Given the description of an element on the screen output the (x, y) to click on. 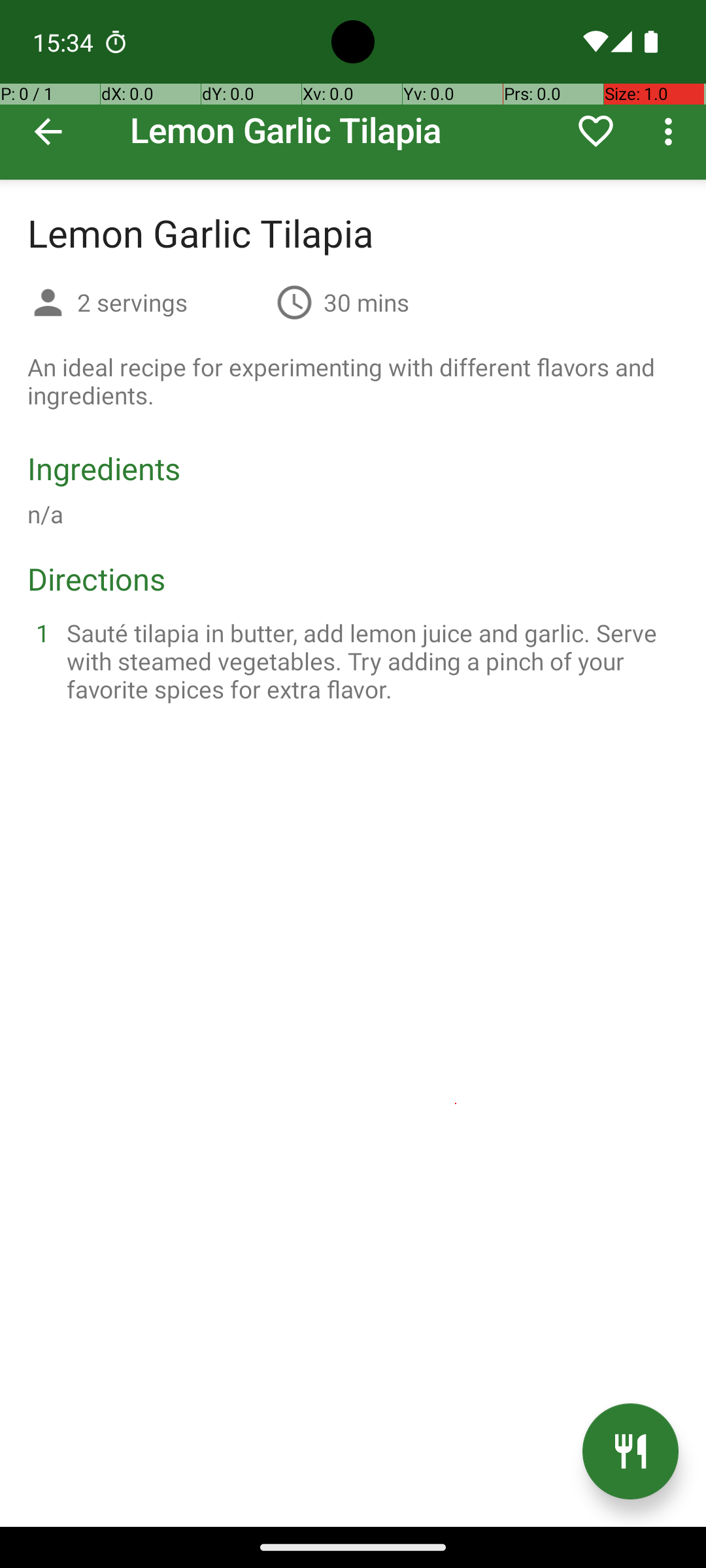
Sauté tilapia in butter, add lemon juice and garlic. Serve with steamed vegetables. Try adding a pinch of your favorite spices for extra flavor. Element type: android.widget.TextView (368, 660)
